Given the description of an element on the screen output the (x, y) to click on. 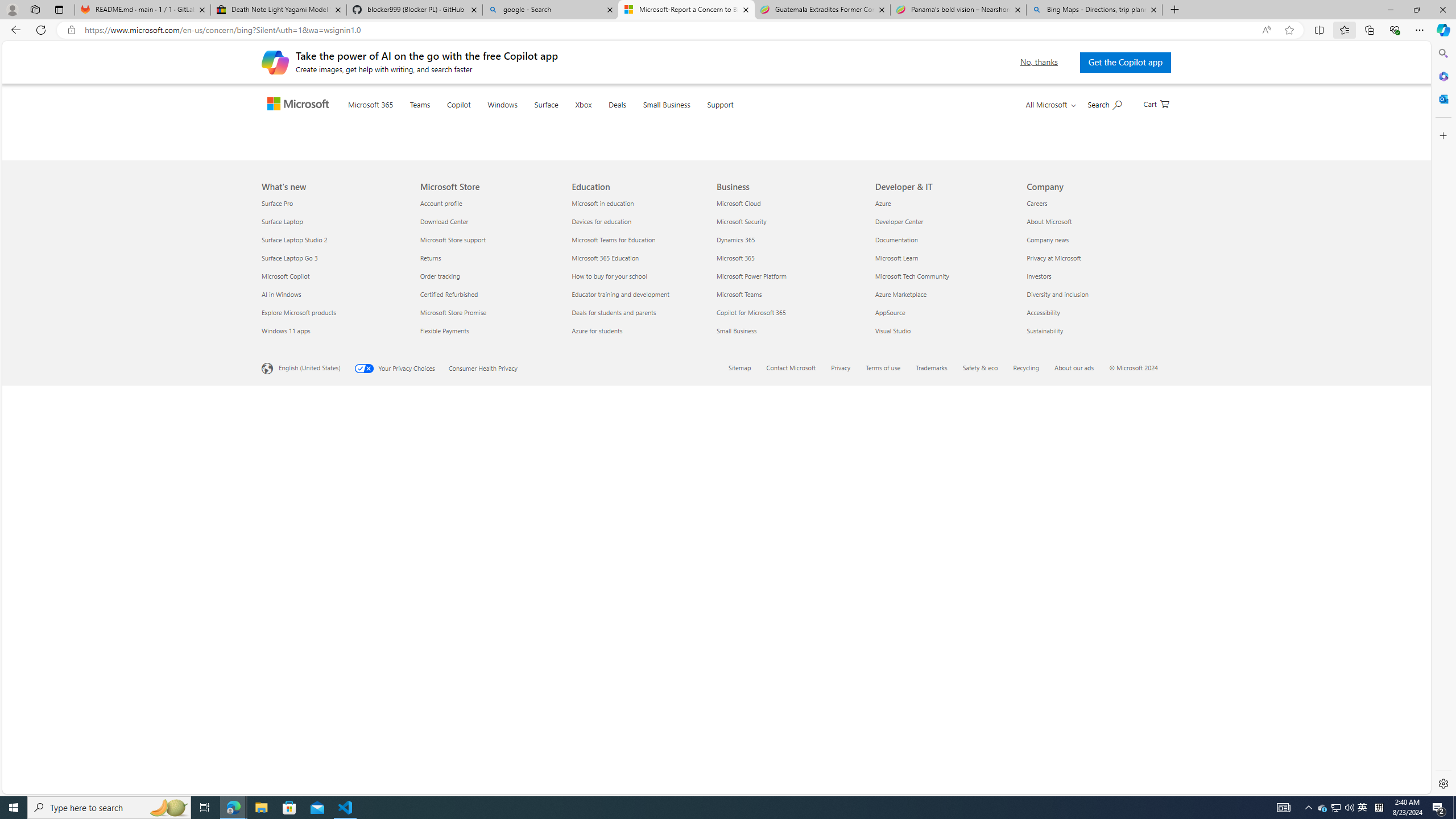
Windows (524, 118)
Support (743, 118)
Order tracking (489, 676)
AI in Windows What's new (281, 693)
0 items in shopping cart (1155, 103)
AI in Windows (334, 694)
Microsoft Security Business (741, 620)
Deals for students and parents Education (614, 712)
Microsoft Store support Microsoft Store (452, 639)
Surface Laptop What's new (282, 620)
Account profile Microsoft Store (441, 602)
Developer Center (944, 621)
